Given the description of an element on the screen output the (x, y) to click on. 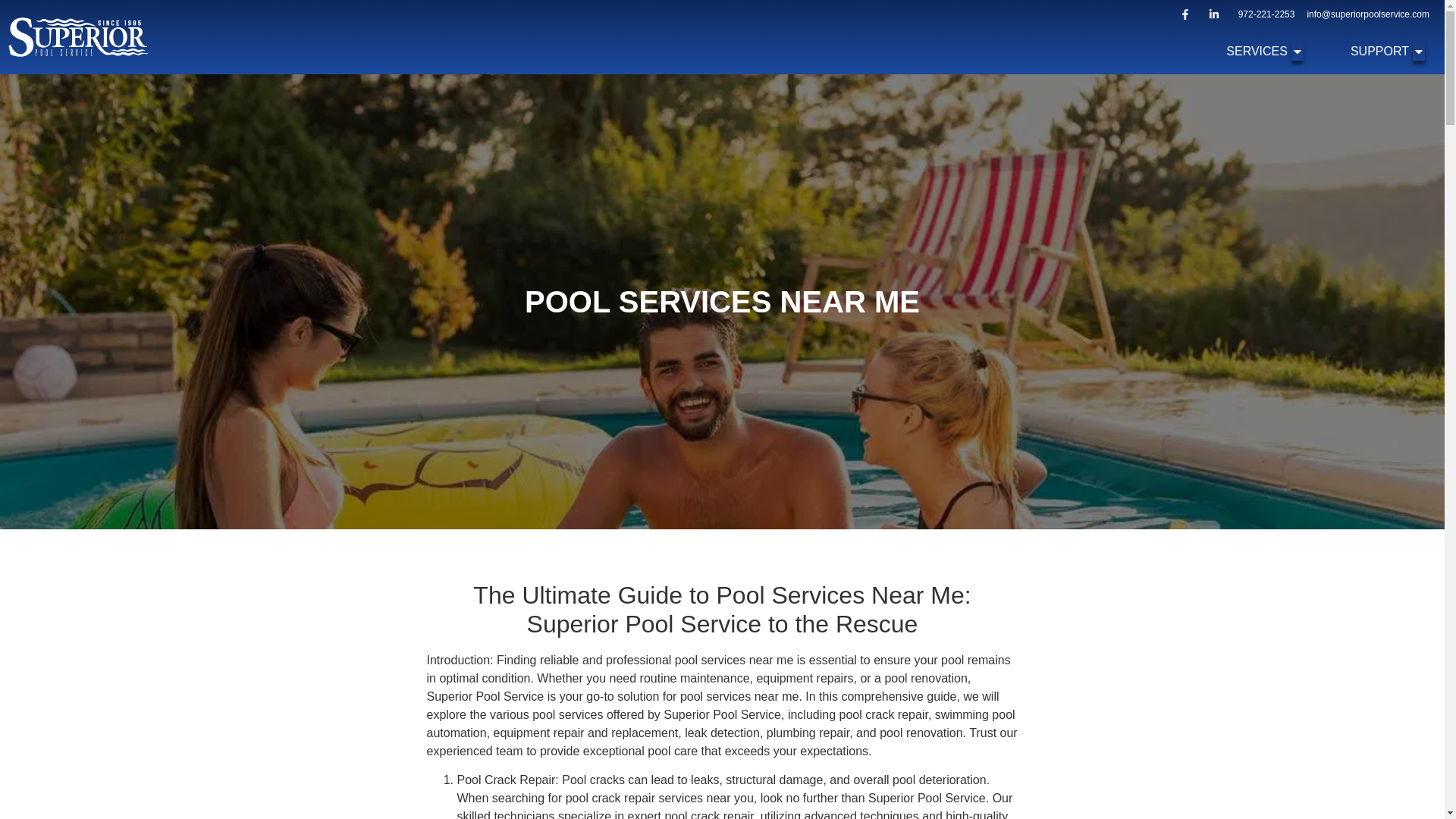
972-221-2253 (1267, 14)
